Given the description of an element on the screen output the (x, y) to click on. 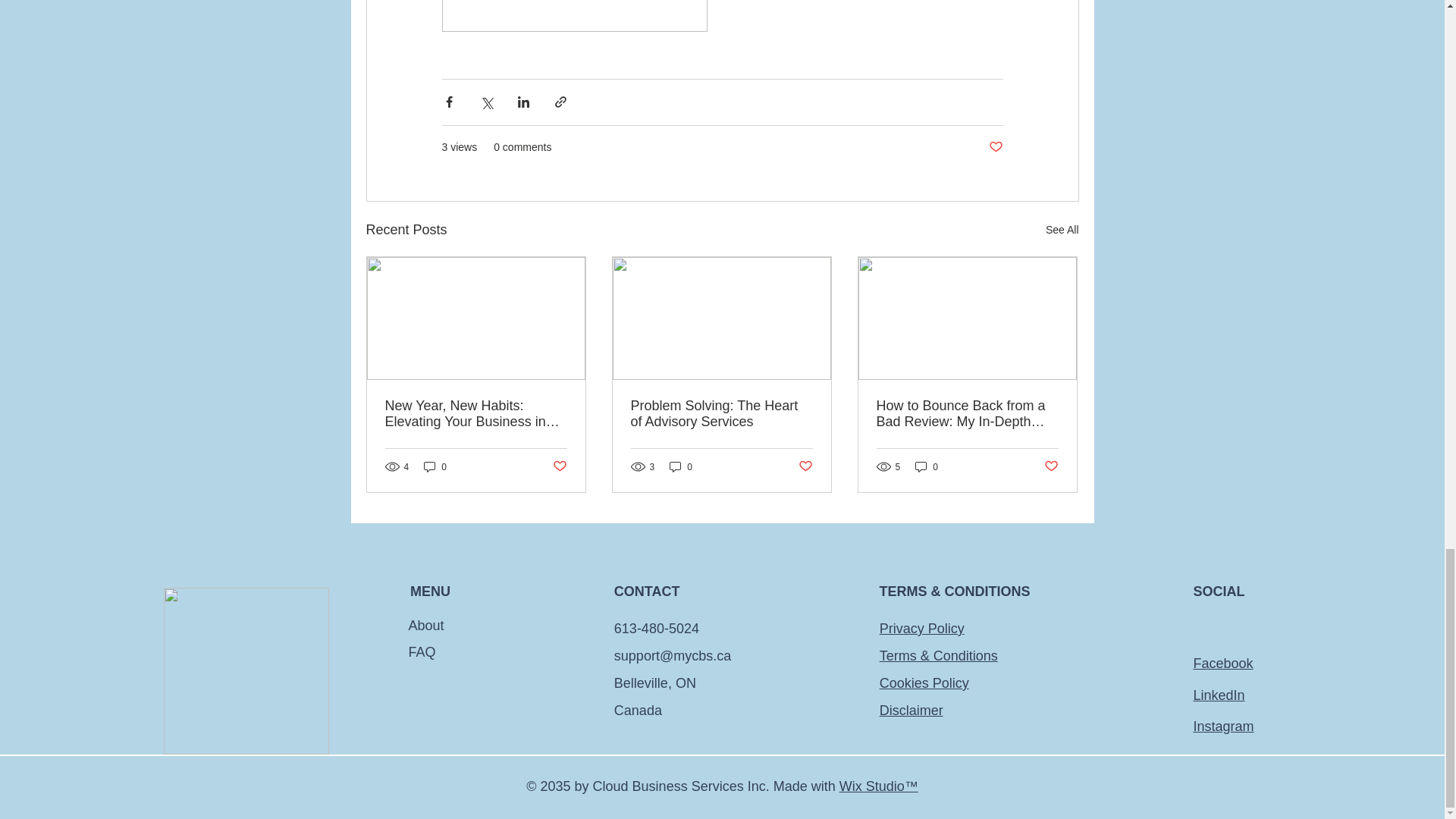
LinkedIn (1218, 694)
Disclaimer (911, 710)
Facebook (1222, 663)
See All (1061, 229)
Post not marked as liked (804, 466)
Post not marked as liked (1050, 466)
New Year, New Habits: Elevating Your Business in 2024 (476, 413)
About (487, 625)
Post not marked as liked (558, 466)
